Given the description of an element on the screen output the (x, y) to click on. 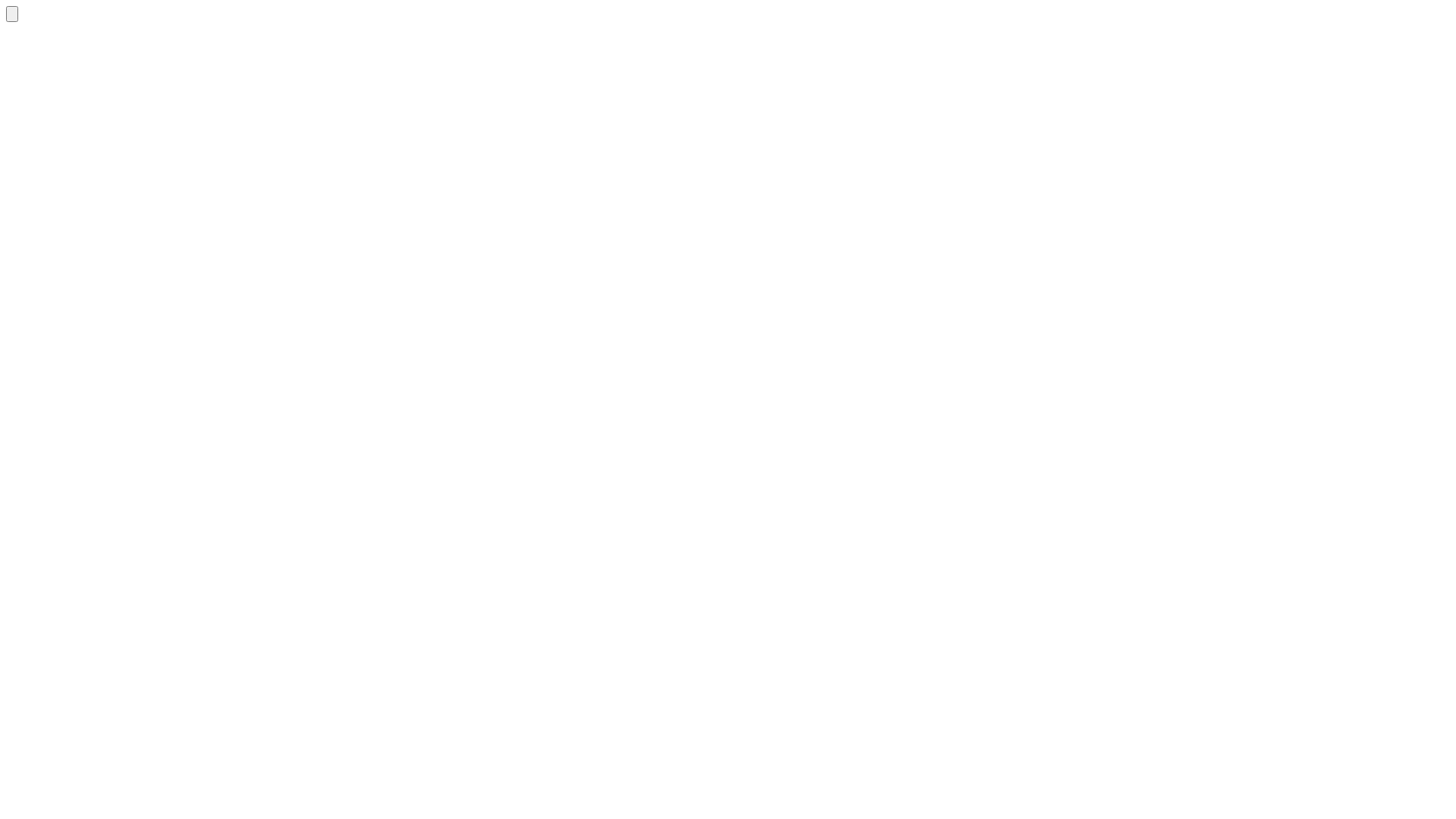
Audacy Logo Element type: text (12, 12)
Audacy Logo Element type: text (12, 13)
